Given the description of an element on the screen output the (x, y) to click on. 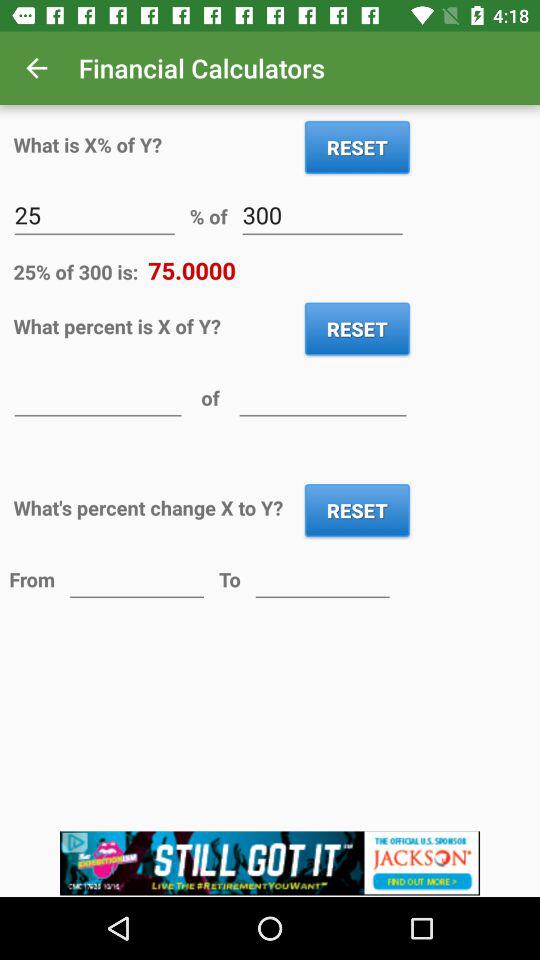
open advertisement (270, 864)
